Given the description of an element on the screen output the (x, y) to click on. 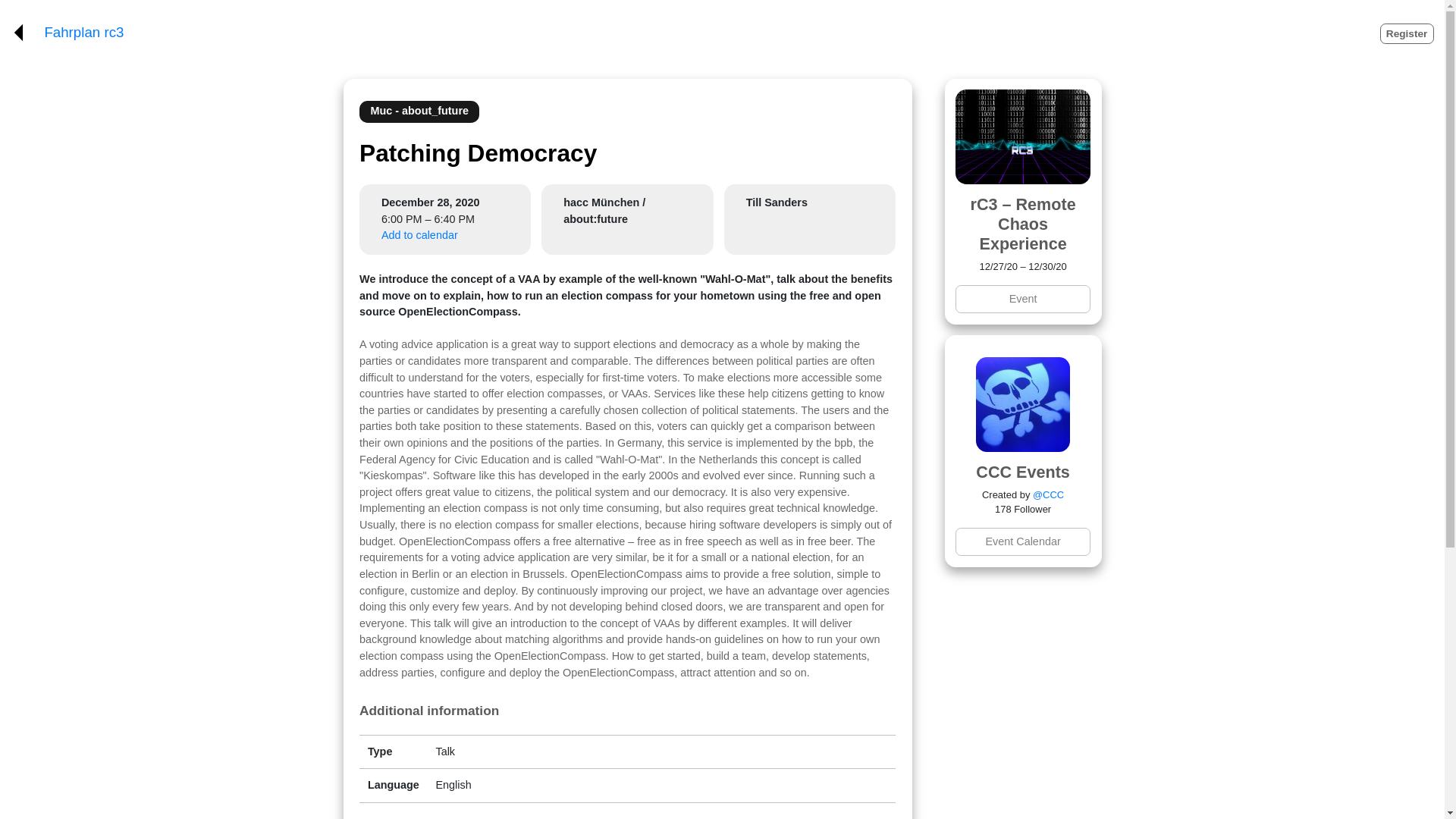
Register (1407, 33)
Event (1022, 298)
Event Calendar (1022, 541)
Add to calendar (419, 234)
Fahrplan rc3 (83, 32)
